Given the description of an element on the screen output the (x, y) to click on. 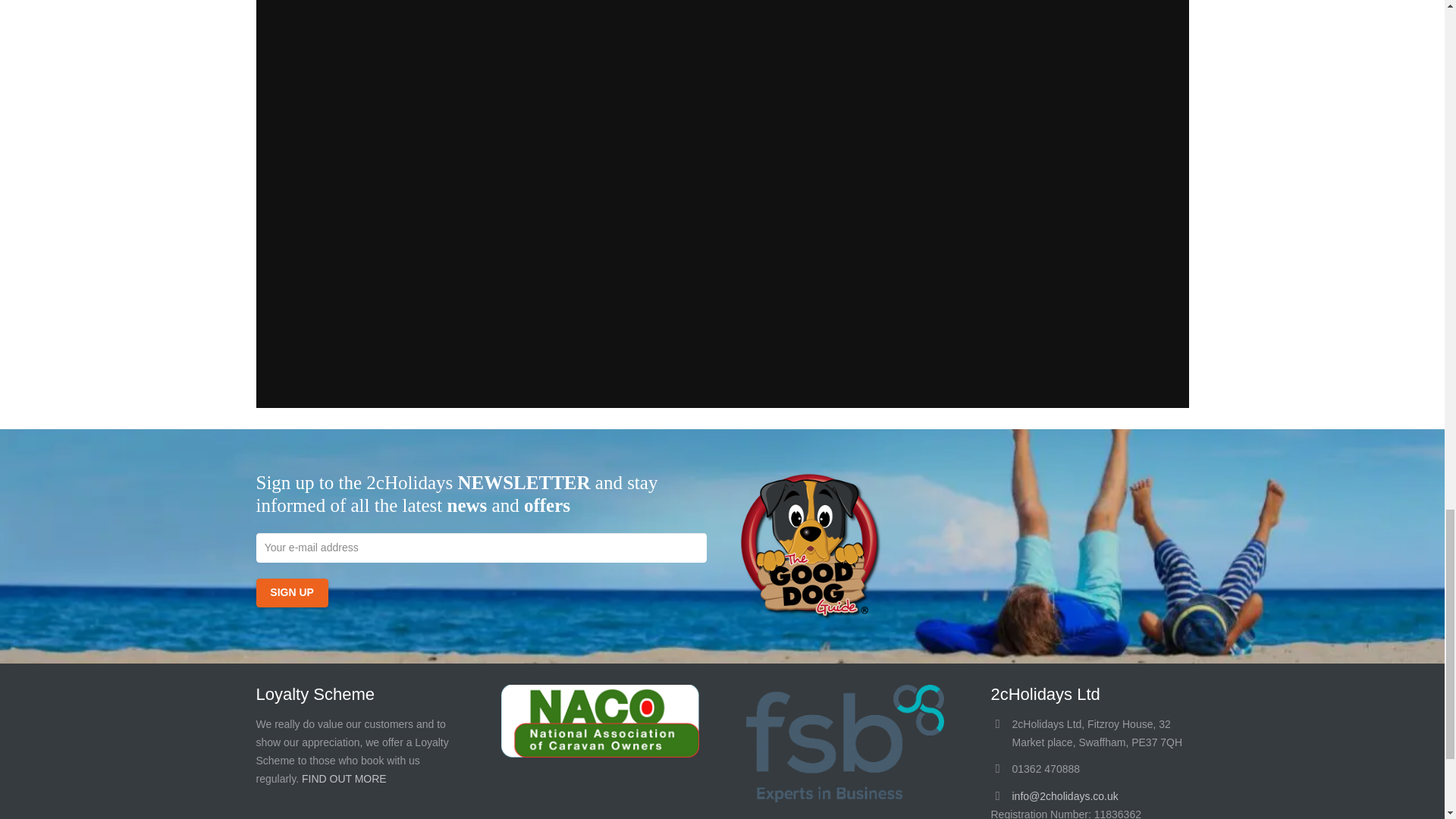
Sign up (292, 592)
FIND OUT MORE (344, 778)
Sign up (292, 592)
